Given the description of an element on the screen output the (x, y) to click on. 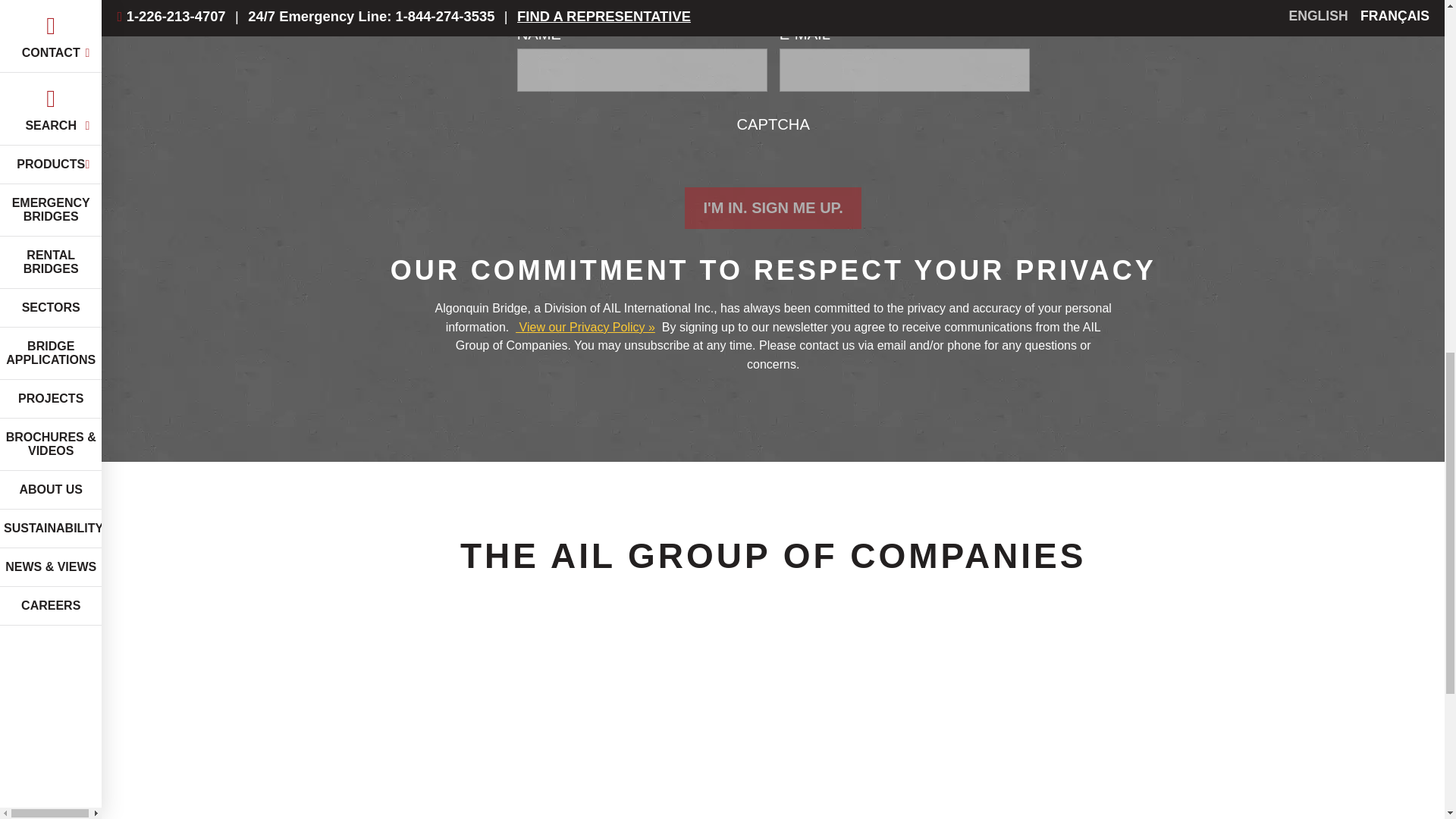
AIL (328, 735)
I'm in. Sign me up. (772, 208)
AIL Mining (1241, 735)
AIL Soundwalls (1013, 735)
Algonquin Bridge (556, 735)
AIL Internatinoal (784, 735)
